Given the description of an element on the screen output the (x, y) to click on. 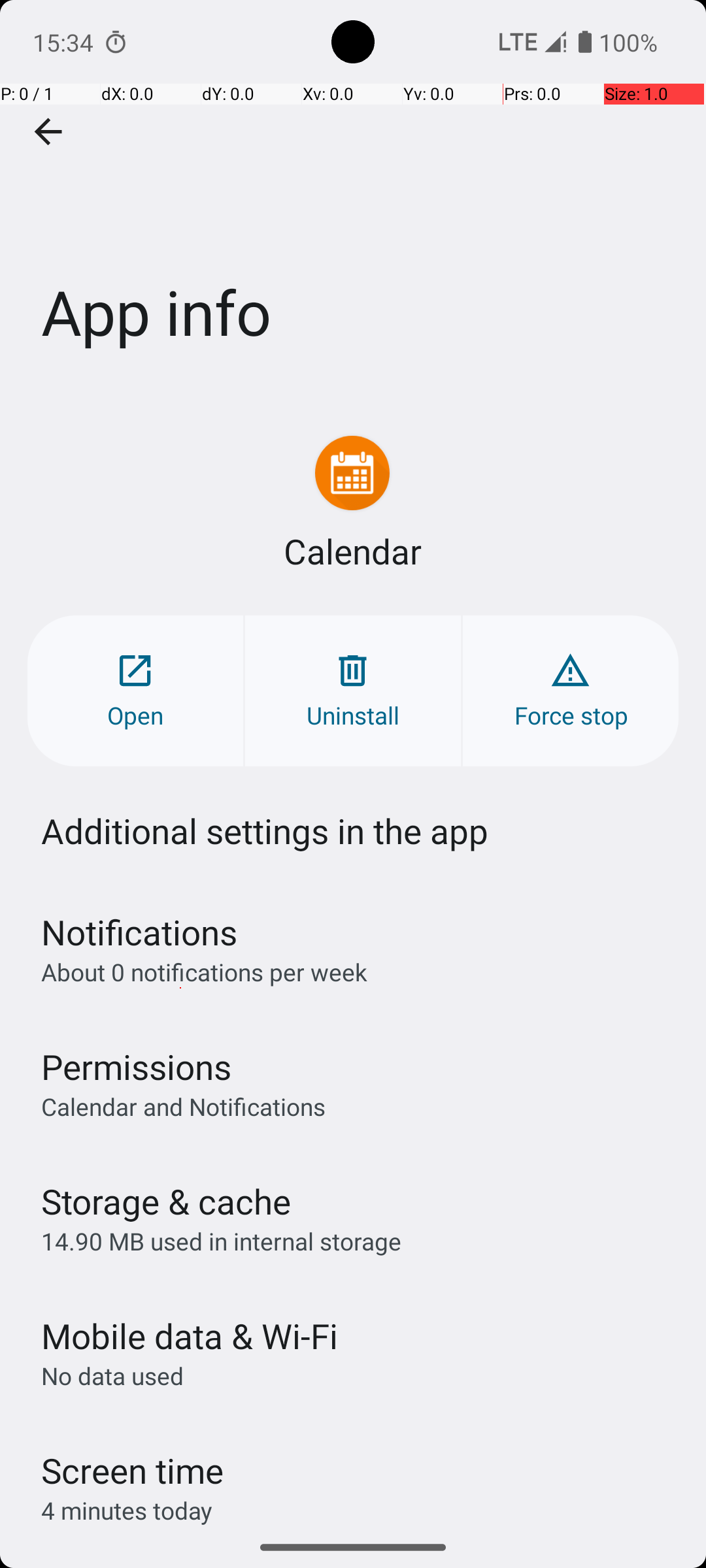
Additional settings in the app Element type: android.widget.TextView (264, 830)
About 0 notifications per week Element type: android.widget.TextView (204, 971)
Calendar and Notifications Element type: android.widget.TextView (183, 1106)
14.90 MB used in internal storage Element type: android.widget.TextView (221, 1240)
4 minutes today Element type: android.widget.TextView (127, 1509)
